Given the description of an element on the screen output the (x, y) to click on. 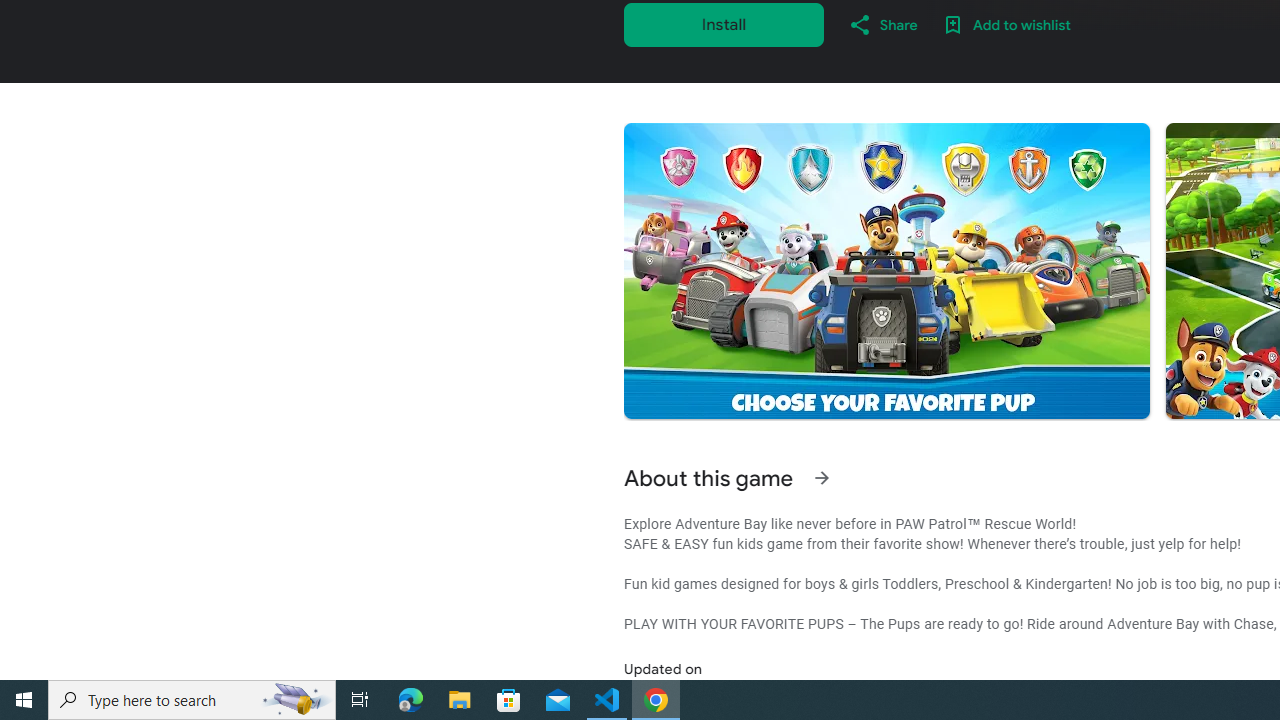
Screenshot image (886, 271)
Install (723, 24)
Add to wishlist (1006, 24)
See more information on About this game (821, 477)
Share (881, 24)
